Given the description of an element on the screen output the (x, y) to click on. 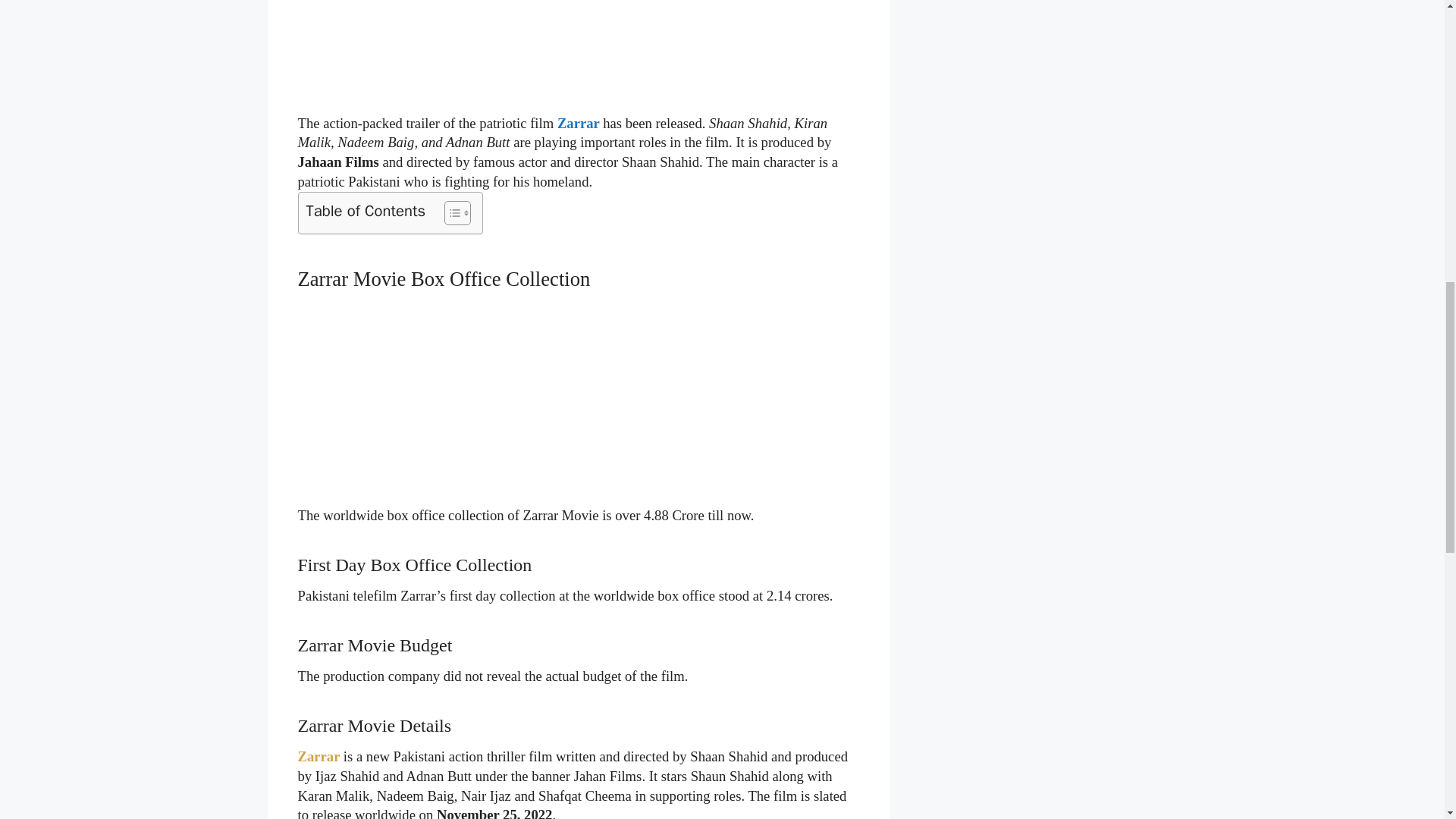
Zarrar  (579, 123)
Zarrar (318, 756)
Scroll back to top (1406, 720)
